Given the description of an element on the screen output the (x, y) to click on. 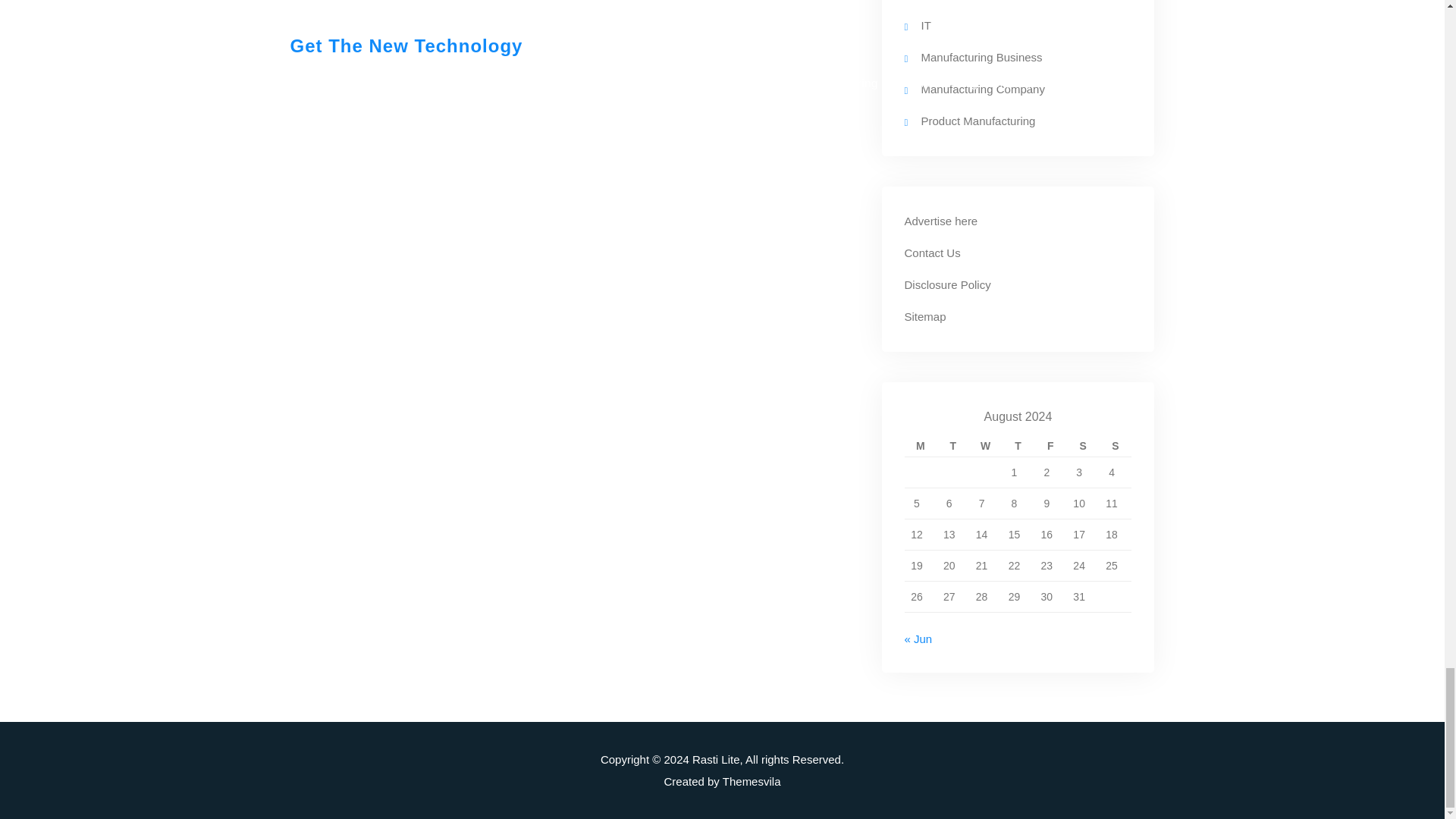
Saturday (1083, 445)
Wednesday (985, 445)
Tuesday (952, 445)
Thursday (1017, 445)
Sunday (1115, 445)
Monday (920, 445)
Friday (1050, 445)
